Given the description of an element on the screen output the (x, y) to click on. 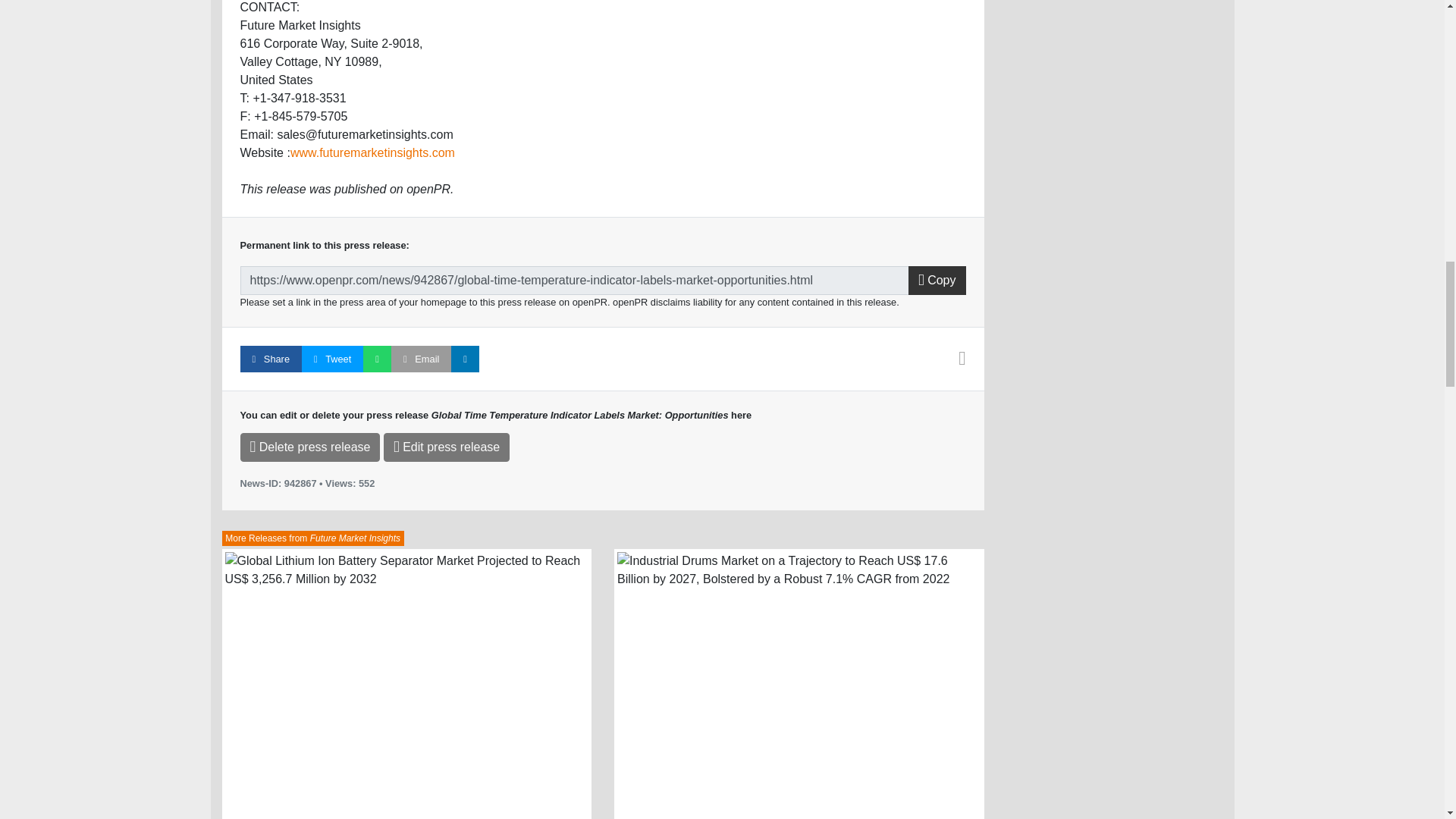
LinkedIn (465, 358)
Facebook (270, 358)
WhatsApp (376, 358)
Permalink (574, 280)
Email (421, 358)
